Given the description of an element on the screen output the (x, y) to click on. 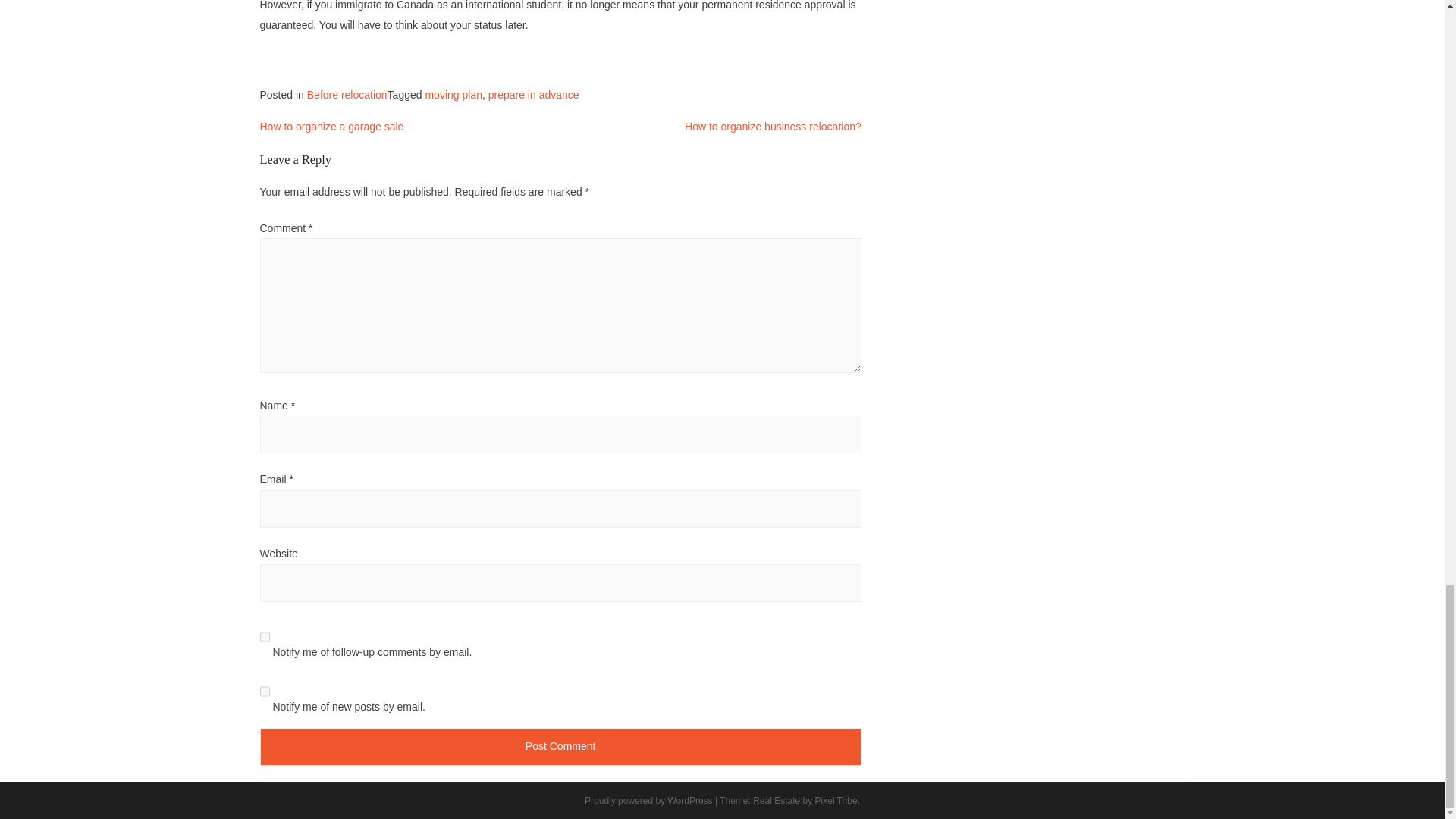
moving plan (453, 94)
Post Comment (559, 746)
Post Comment (559, 746)
Before relocation (347, 94)
Pixel Tribe (836, 800)
Proudly powered by WordPress (649, 800)
How to organize business relocation? (772, 126)
How to organize a garage sale (331, 126)
prepare in advance (533, 94)
